Given the description of an element on the screen output the (x, y) to click on. 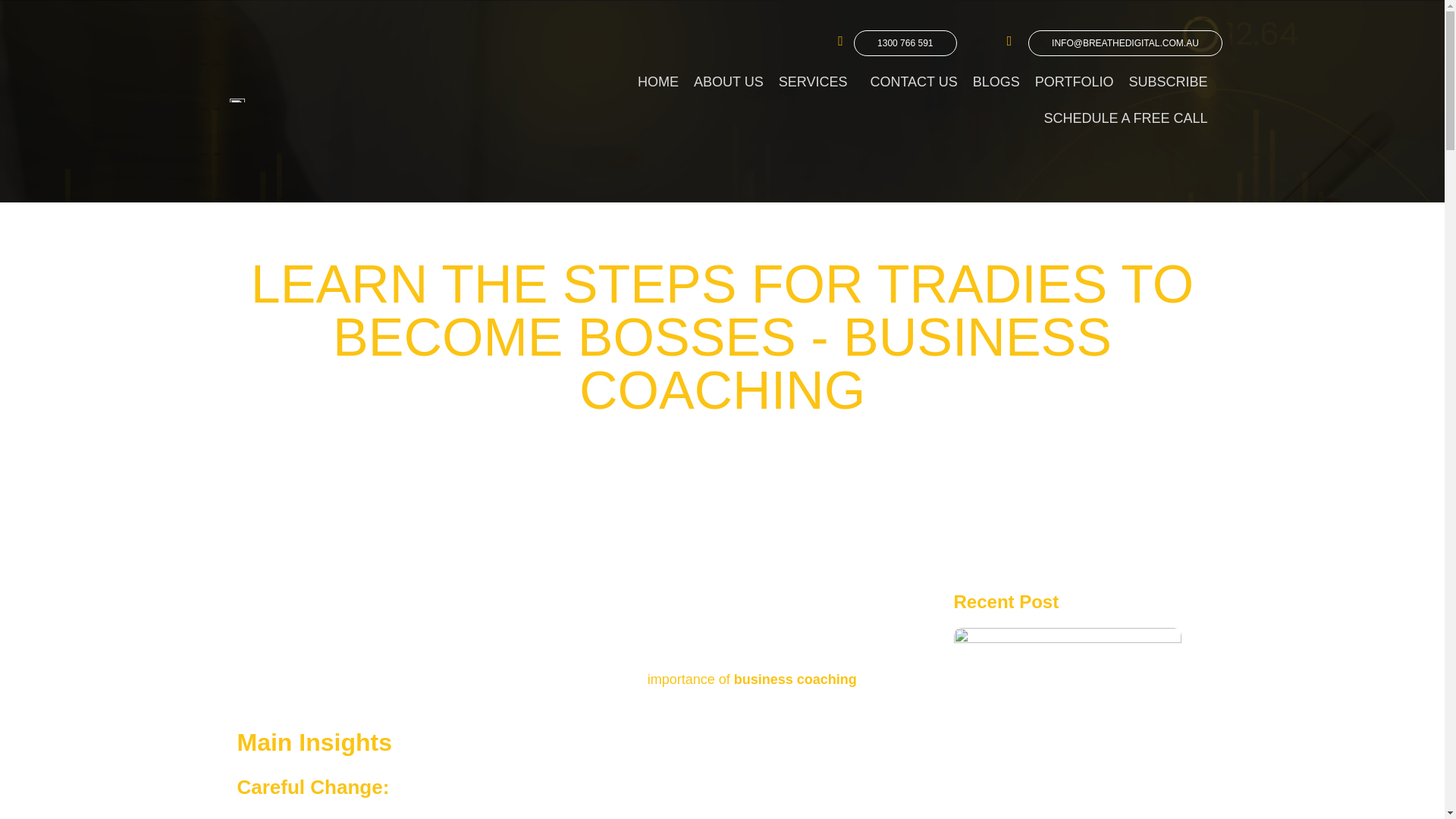
SERVICES (817, 81)
PORTFOLIO (1074, 81)
CONTACT US (912, 81)
Why Every Tradie Needs a Strong Email Marketing Strategy (1066, 816)
ABOUT US (728, 81)
importance of business coaching (752, 679)
HOME (657, 81)
1300 766 591 (904, 43)
SCHEDULE A FREE CALL (1124, 117)
BLOGS (996, 81)
